Given the description of an element on the screen output the (x, y) to click on. 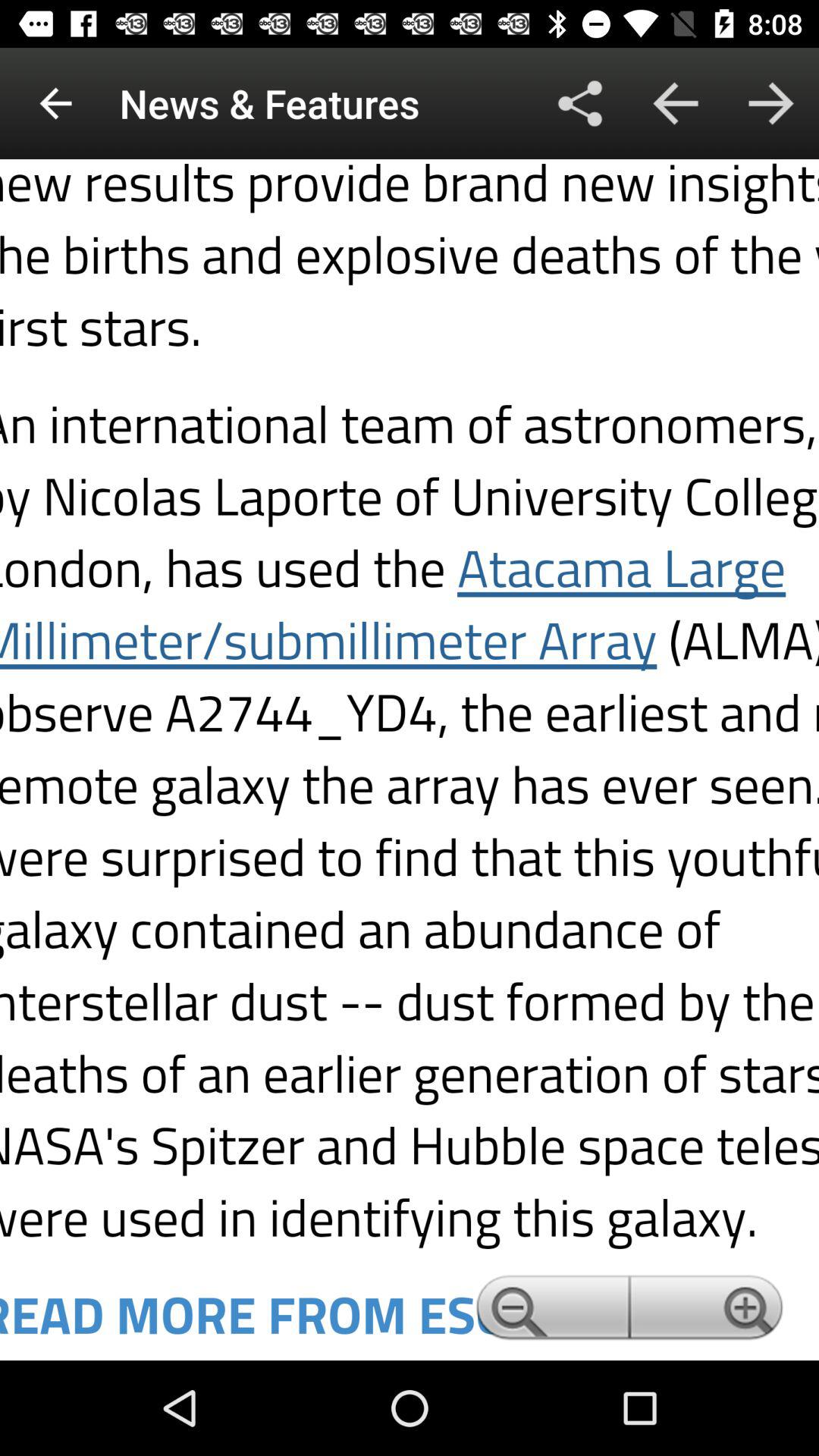
webpage view (409, 759)
